Given the description of an element on the screen output the (x, y) to click on. 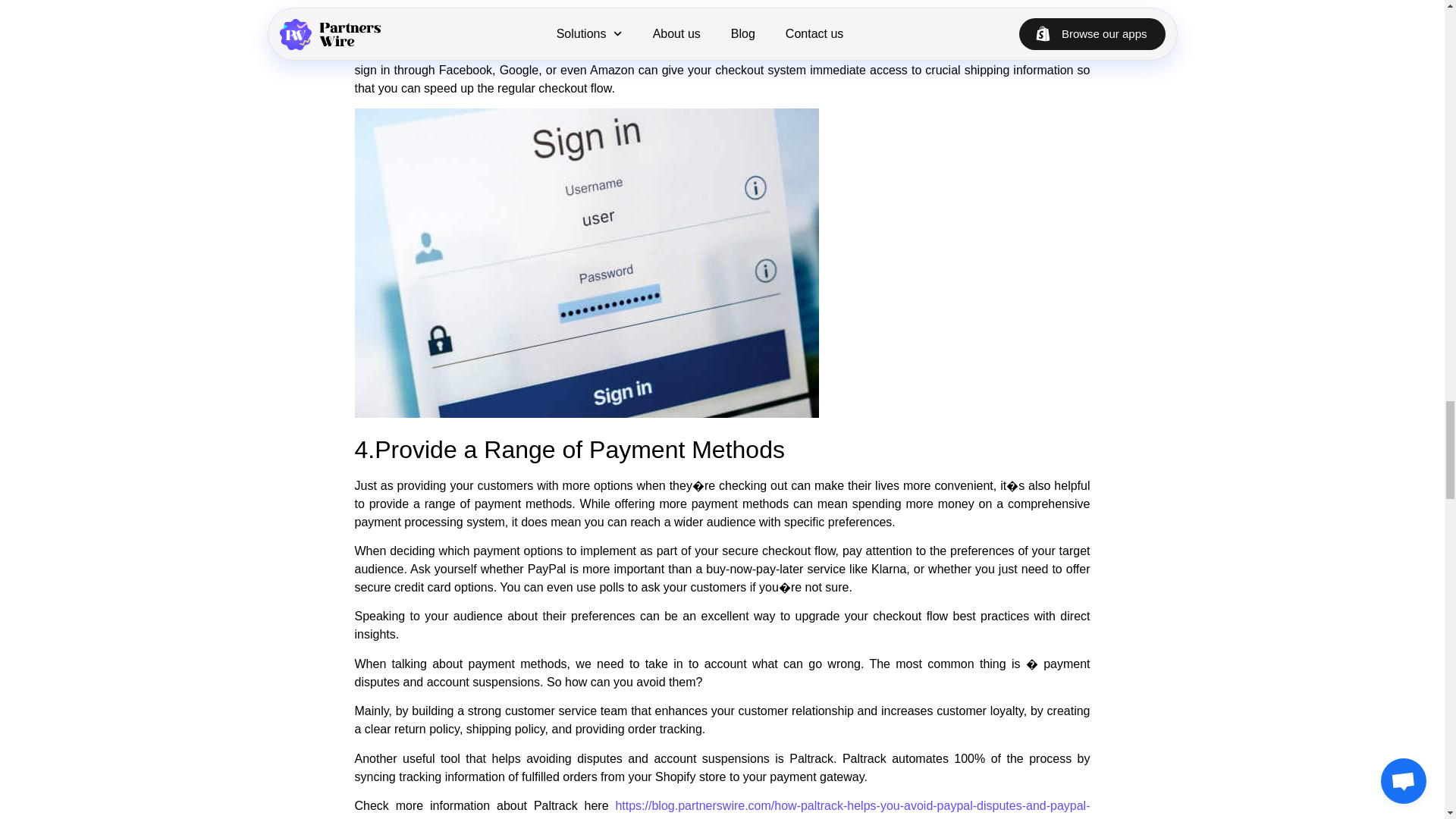
increase your conversion rates (605, 21)
